Given the description of an element on the screen output the (x, y) to click on. 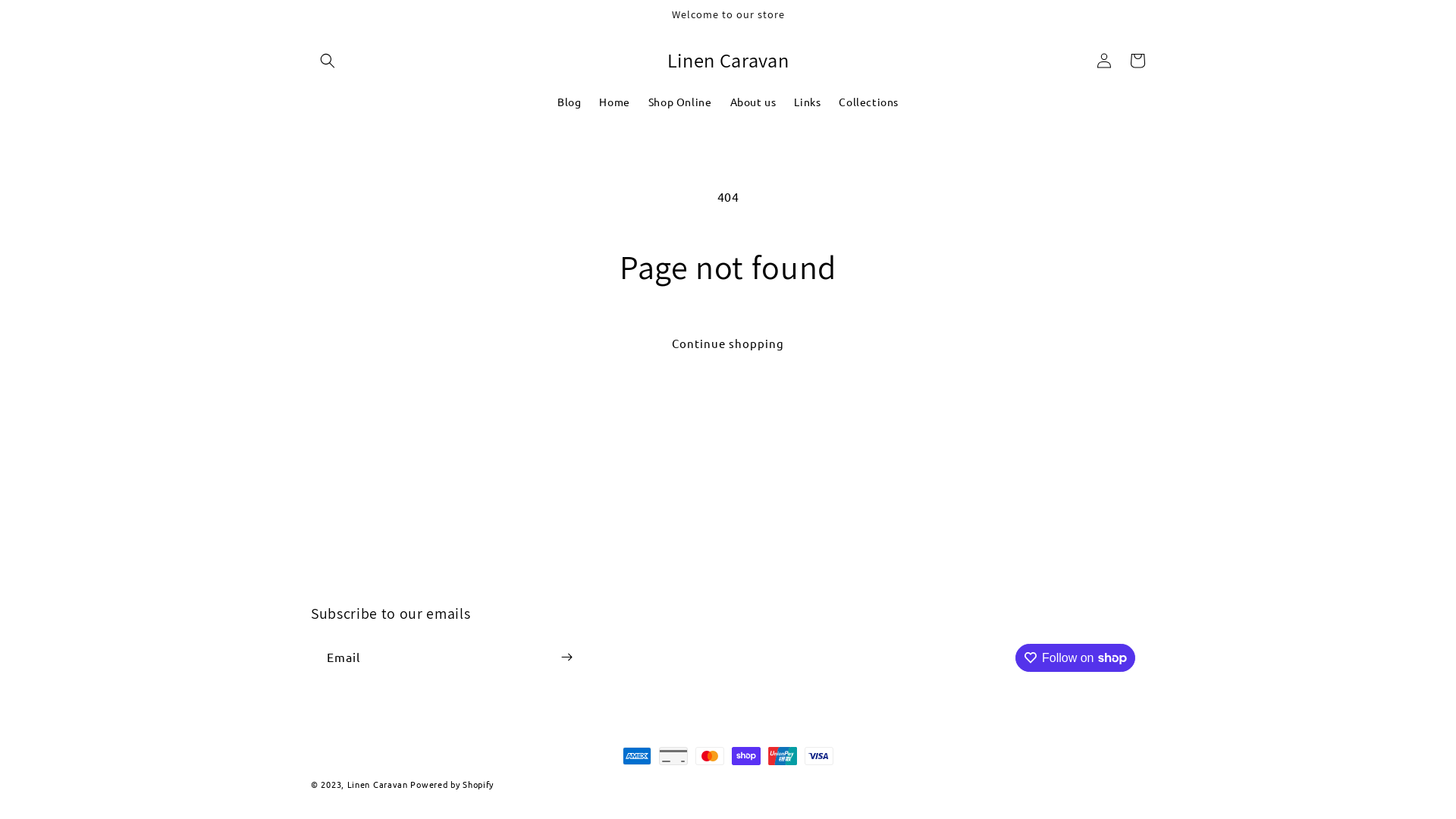
Linen Caravan Element type: text (377, 784)
Powered by Shopify Element type: text (451, 784)
Shop Online Element type: text (680, 101)
Home Element type: text (613, 101)
Cart Element type: text (1137, 60)
Log in Element type: text (1103, 60)
Collections Element type: text (868, 101)
Continue shopping Element type: text (727, 343)
Linen Caravan Element type: text (727, 59)
Blog Element type: text (568, 101)
Links Element type: text (806, 101)
About us Element type: text (752, 101)
